Given the description of an element on the screen output the (x, y) to click on. 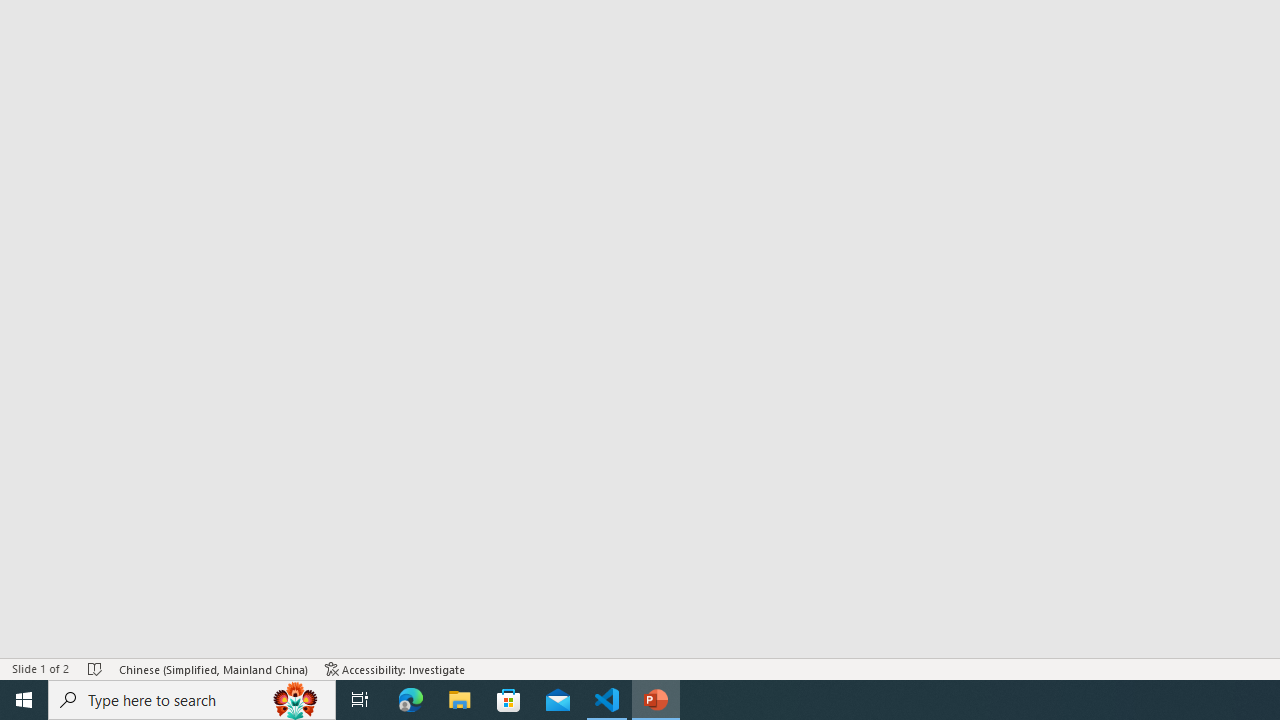
Spell Check No Errors (95, 668)
Accessibility Checker Accessibility: Investigate (395, 668)
